Given the description of an element on the screen output the (x, y) to click on. 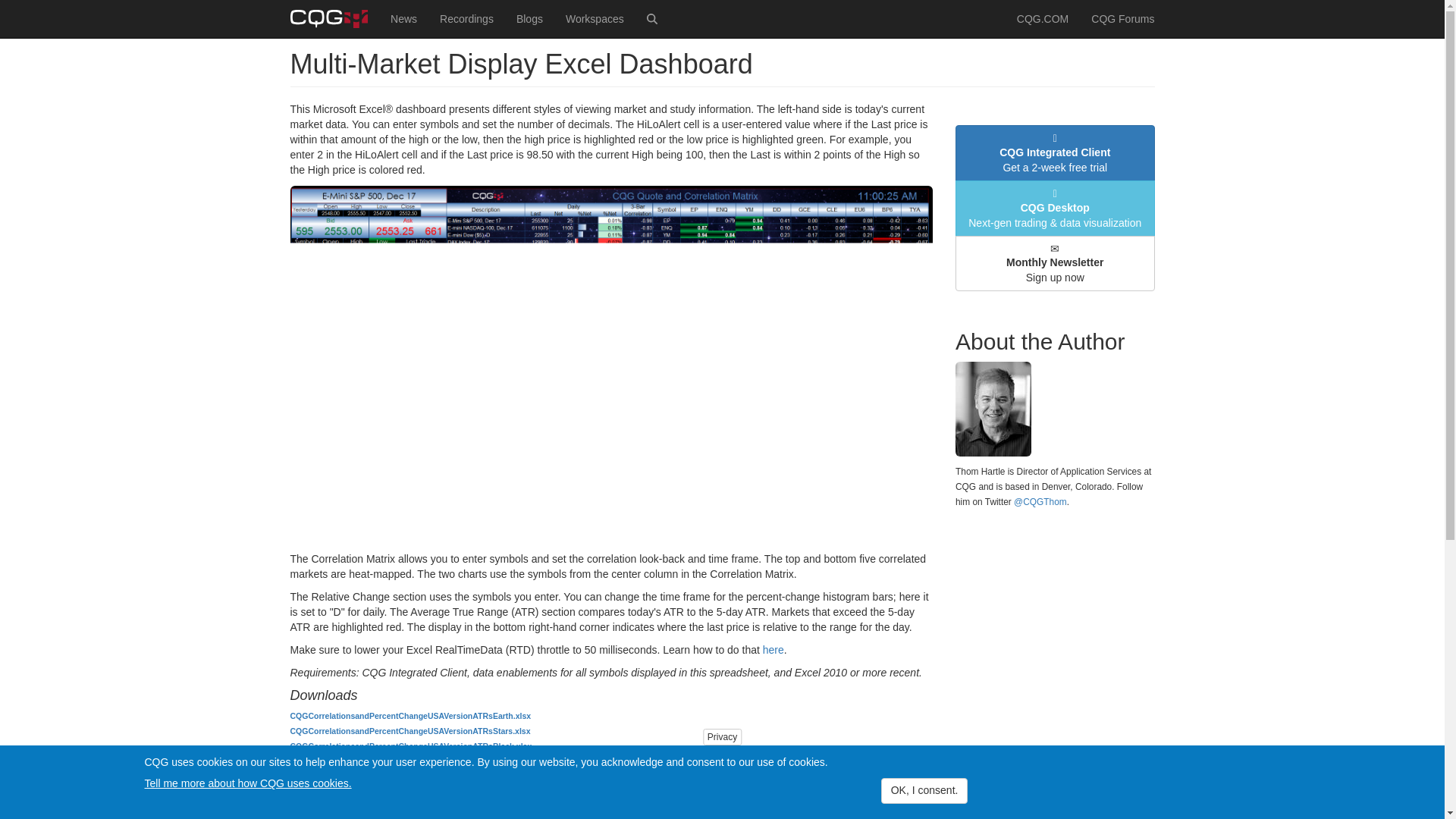
CQGCorrelationsandPercentChangeUSAVersionATRsEarth.xlsx (410, 715)
Privacy (722, 736)
CQG Forums (1123, 18)
News (403, 18)
CQG.COM (1043, 18)
Workspaces (594, 18)
Home (333, 18)
Recordings (466, 18)
CQGCorrelationsandPercentChangeUSAVersionATRsStars.xlsx (409, 730)
here (773, 649)
CQGCorrelationsandPercentChangeUSAVersionATRsBlack.xlsx (410, 746)
Blogs (529, 18)
